Given the description of an element on the screen output the (x, y) to click on. 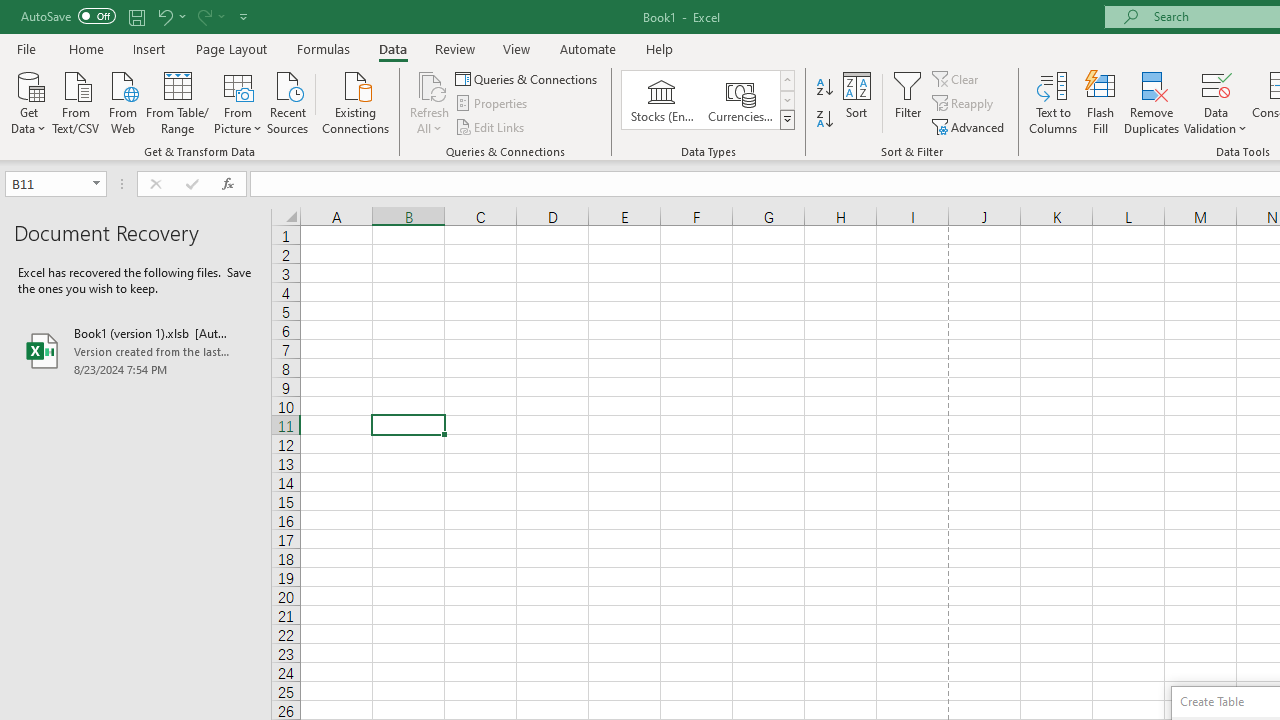
Stocks (English) (662, 100)
Queries & Connections (527, 78)
AutomationID: ConvertToLinkedEntity (708, 99)
From Picture (238, 101)
